Given the description of an element on the screen output the (x, y) to click on. 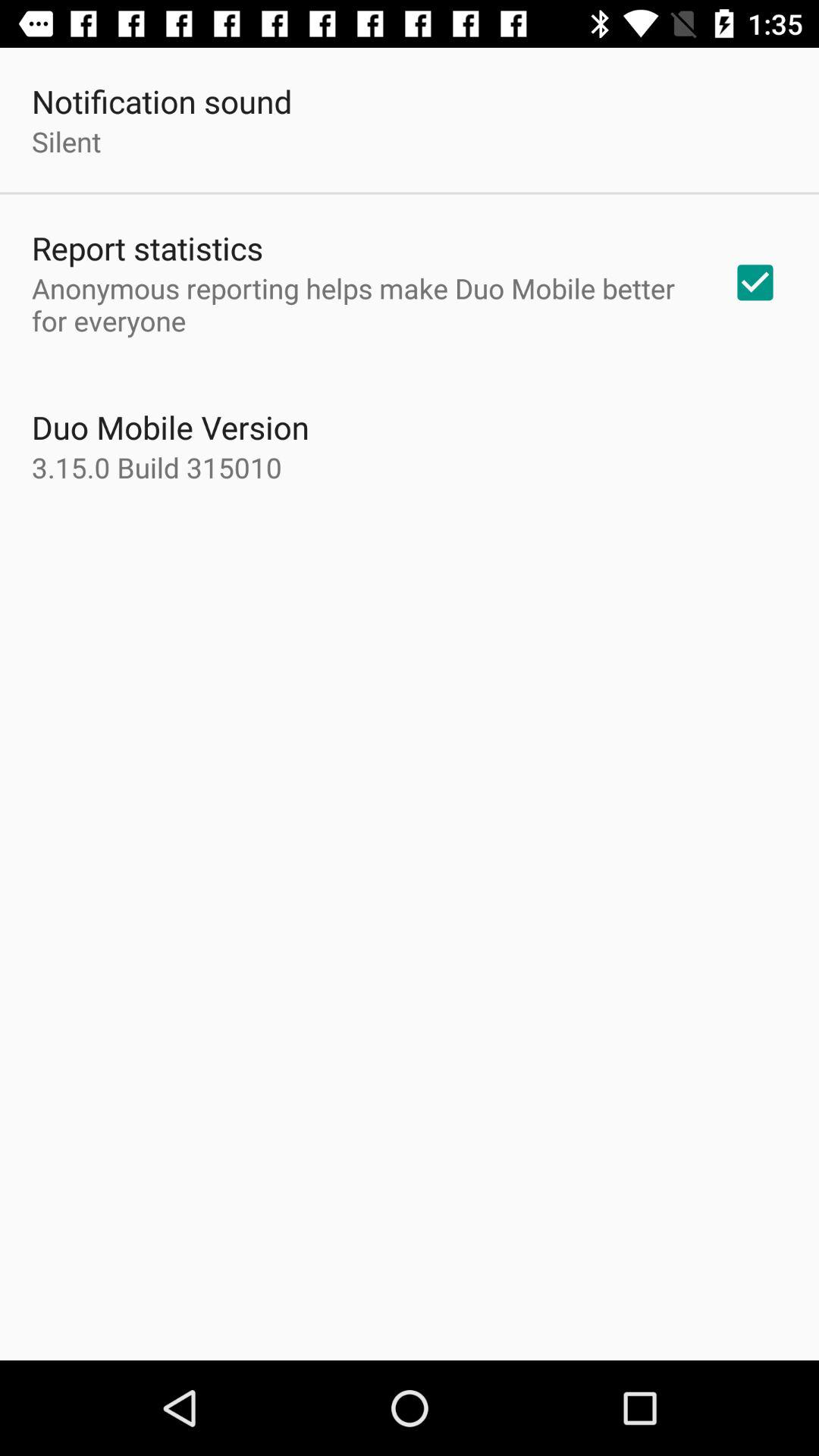
scroll until 3 15 0 (156, 467)
